Given the description of an element on the screen output the (x, y) to click on. 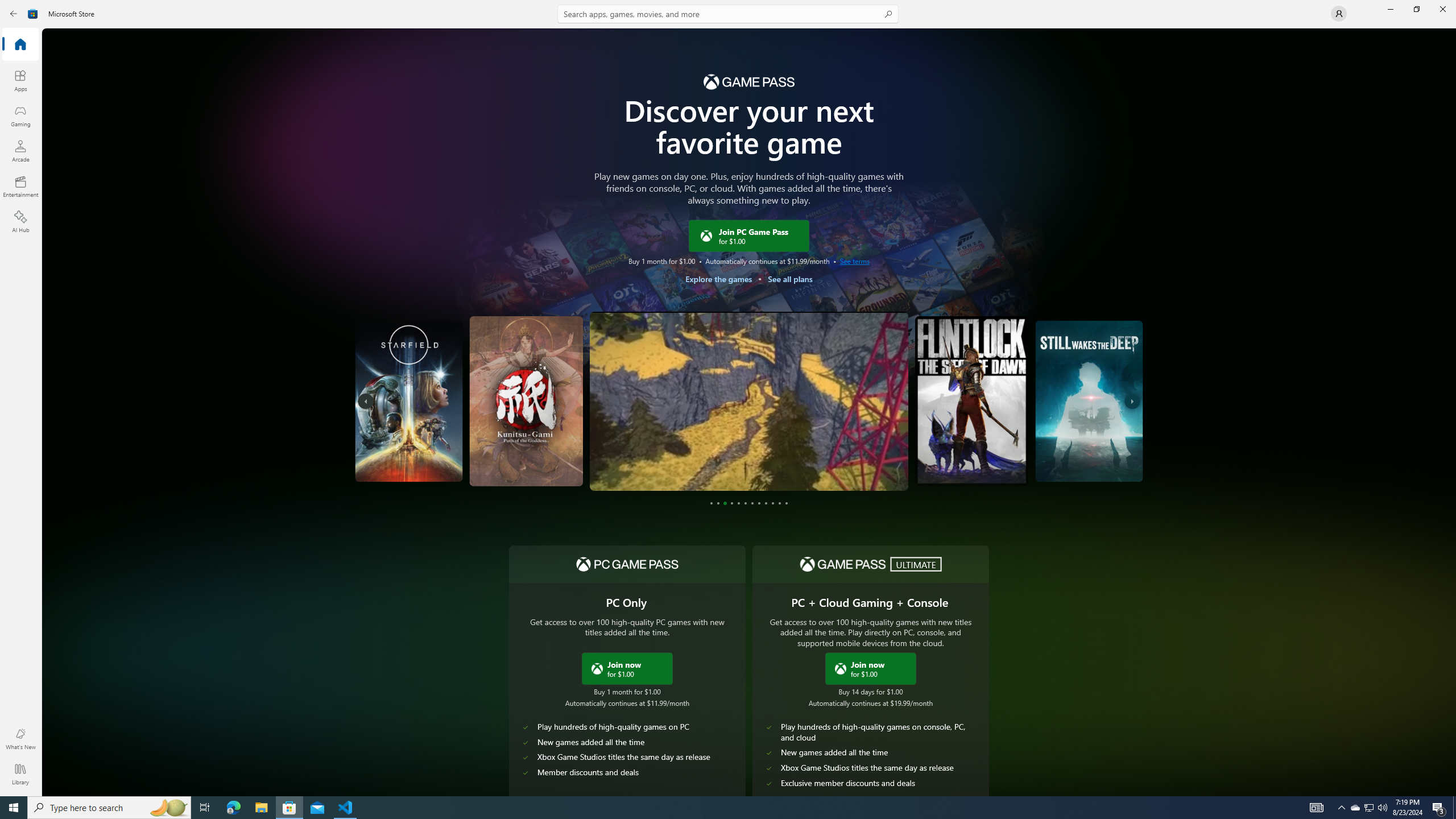
Page 8 (758, 503)
AutomationID: NavigationControl (728, 398)
Page 7 (751, 503)
See terms (854, 260)
Join Xbox Game Pass Ultimate now for $1.00 (870, 667)
AutomationID: LottiePlayer (533, 462)
Page 9 (766, 503)
Kunitsu-Gami: Path of the Goddess (454, 456)
Join PC Game Pass now for $1.00 (627, 667)
